Given the description of an element on the screen output the (x, y) to click on. 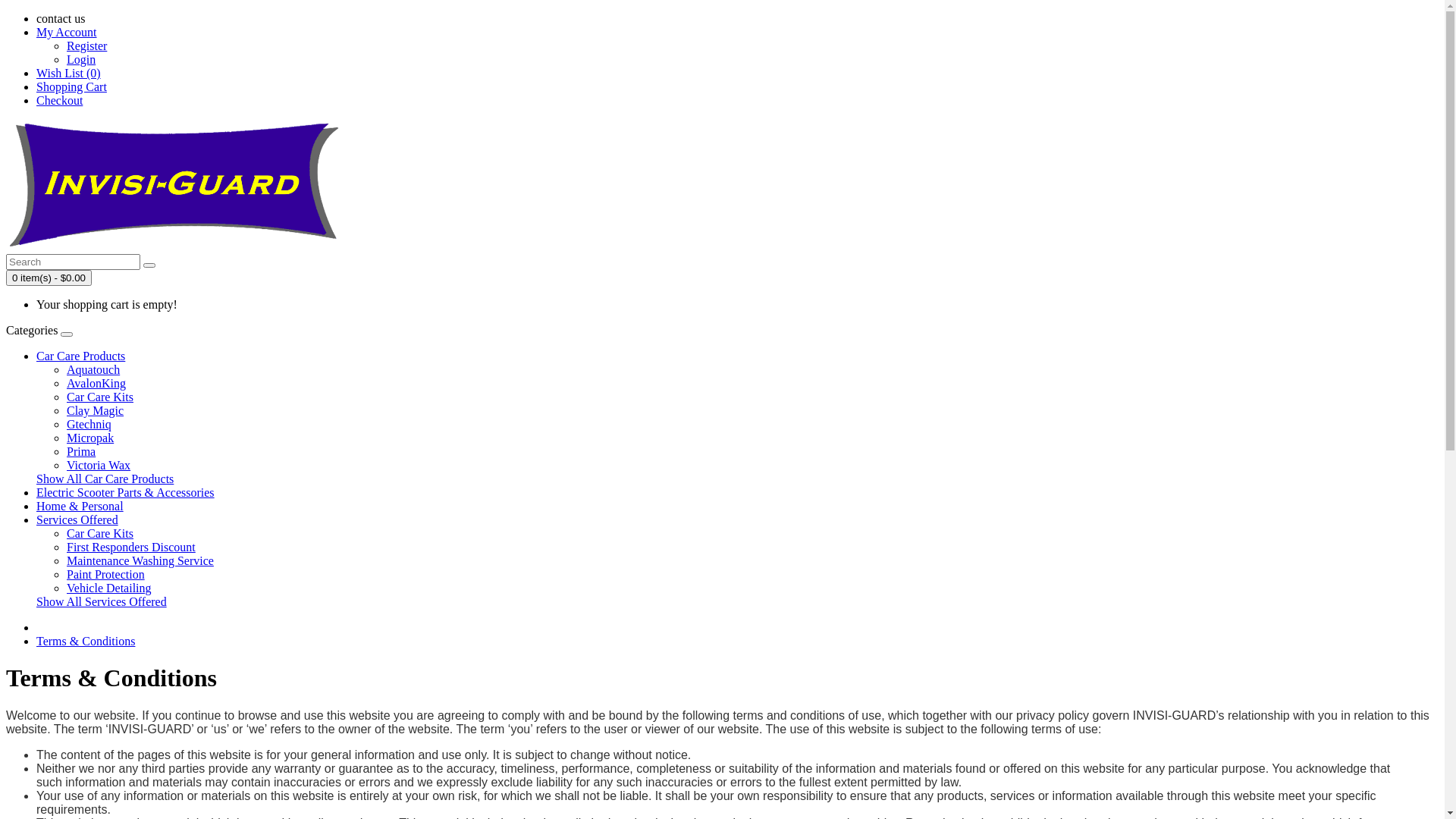
Gtechniq Element type: text (88, 423)
Home & Personal Element type: text (79, 505)
Electric Scooter Parts & Accessories Element type: text (125, 492)
Register Element type: text (86, 45)
Show All Services Offered Element type: text (101, 601)
Services Offered Element type: text (77, 519)
Victoria Wax Element type: text (98, 464)
Shopping Cart Element type: text (71, 86)
Micropak Element type: text (89, 437)
Stuff 4 Cars Element type: hover (175, 185)
0 item(s) - $0.00 Element type: text (48, 277)
Aquatouch Element type: text (92, 369)
Clay Magic Element type: text (94, 410)
Maintenance Washing Service Element type: text (139, 560)
Paint Protection Element type: text (105, 573)
AvalonKing Element type: text (95, 382)
Car Care Products Element type: text (80, 355)
Login Element type: text (80, 59)
Car Care Kits Element type: text (99, 533)
My Account Element type: text (66, 31)
Terms & Conditions Element type: text (85, 640)
Show All Car Care Products Element type: text (104, 478)
Prima Element type: text (80, 451)
Wish List (0) Element type: text (68, 72)
Checkout Element type: text (59, 100)
Car Care Kits Element type: text (99, 396)
Vehicle Detailing Element type: text (108, 587)
First Responders Discount Element type: text (130, 546)
